Given the description of an element on the screen output the (x, y) to click on. 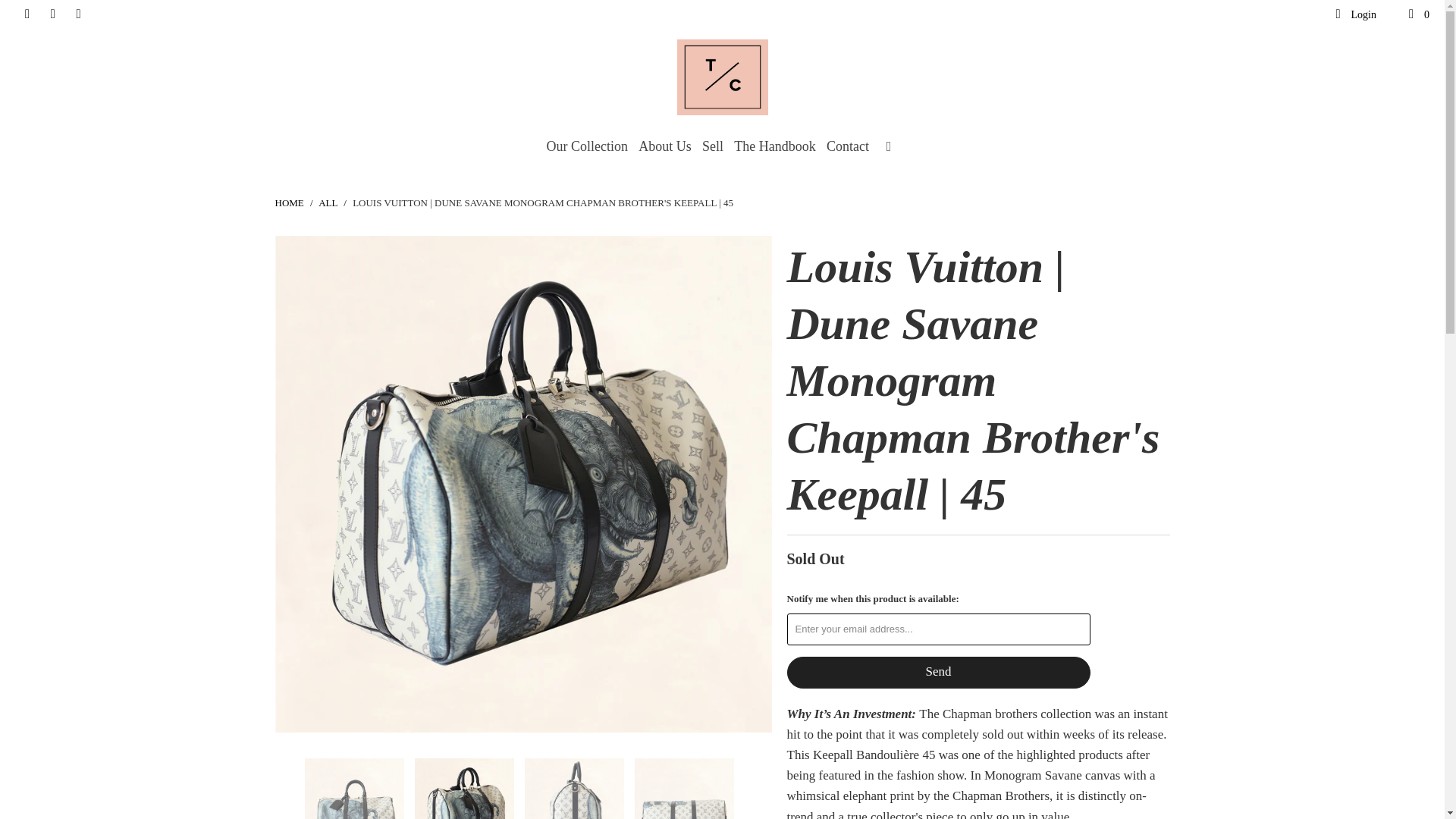
Our Collection (586, 147)
TC on Facebook (25, 14)
About Us (665, 147)
HOME (288, 202)
All (327, 202)
TC on Instagram (52, 14)
Email TC (77, 14)
TC (288, 202)
Contact (848, 147)
ALL (327, 202)
My Account  (1354, 15)
Send (938, 672)
The Handbook (774, 147)
Login (1354, 15)
